Given the description of an element on the screen output the (x, y) to click on. 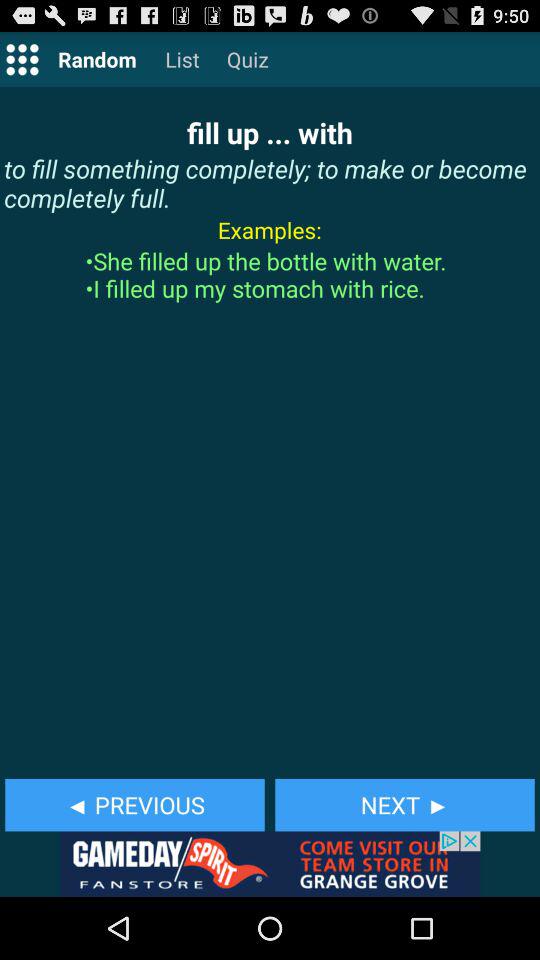
setting option (22, 58)
